Given the description of an element on the screen output the (x, y) to click on. 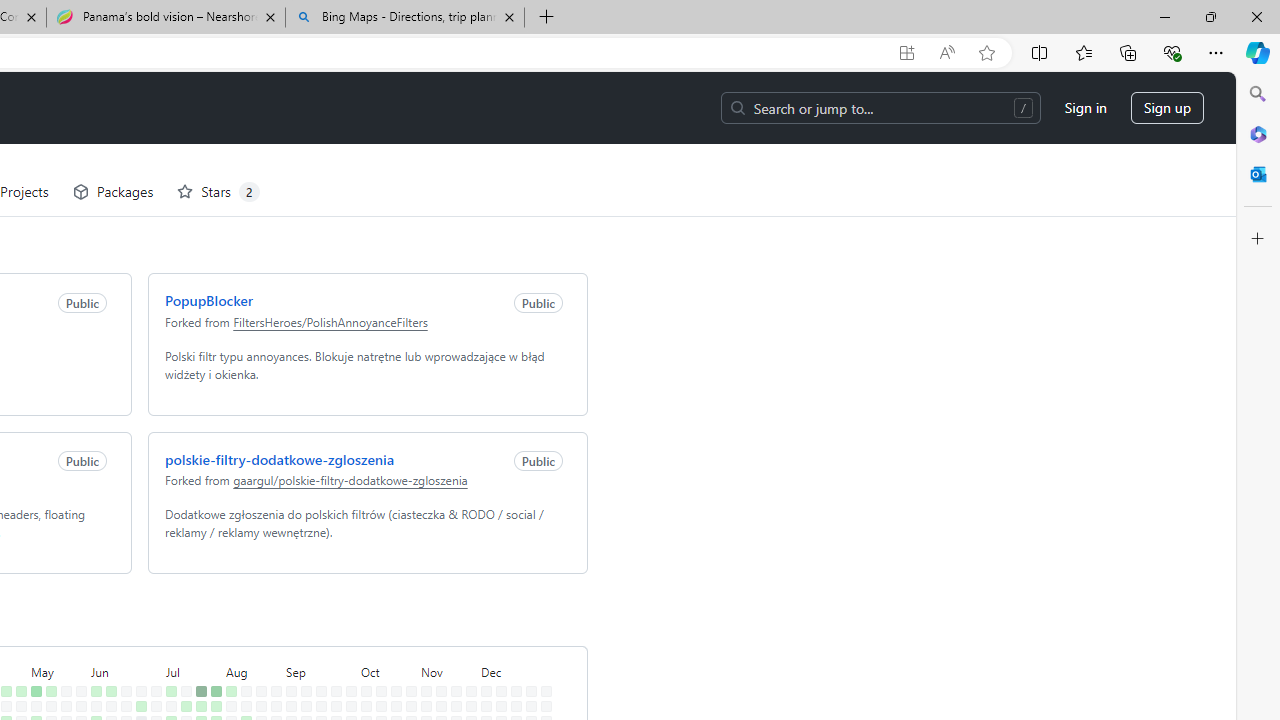
No contributions on December 31st. (542, 649)
2 contributions on June 4th. (92, 649)
FiltersHeroes/PolishAnnoyanceFilters (326, 249)
No contributions on December 4th. (482, 664)
No contributions on November 17th. (452, 619)
No contributions on July 5th. (152, 694)
No contributions on August 22nd. (257, 678)
No contributions on December 2nd. (482, 634)
No contributions on June 3rd. (92, 634)
No contributions on October 18th. (377, 694)
1 contribution on May 31st. (77, 694)
No contributions on November 18th. (452, 634)
6 contributions on July 25th. (197, 678)
No contributions on May 22nd. (62, 664)
